Given the description of an element on the screen output the (x, y) to click on. 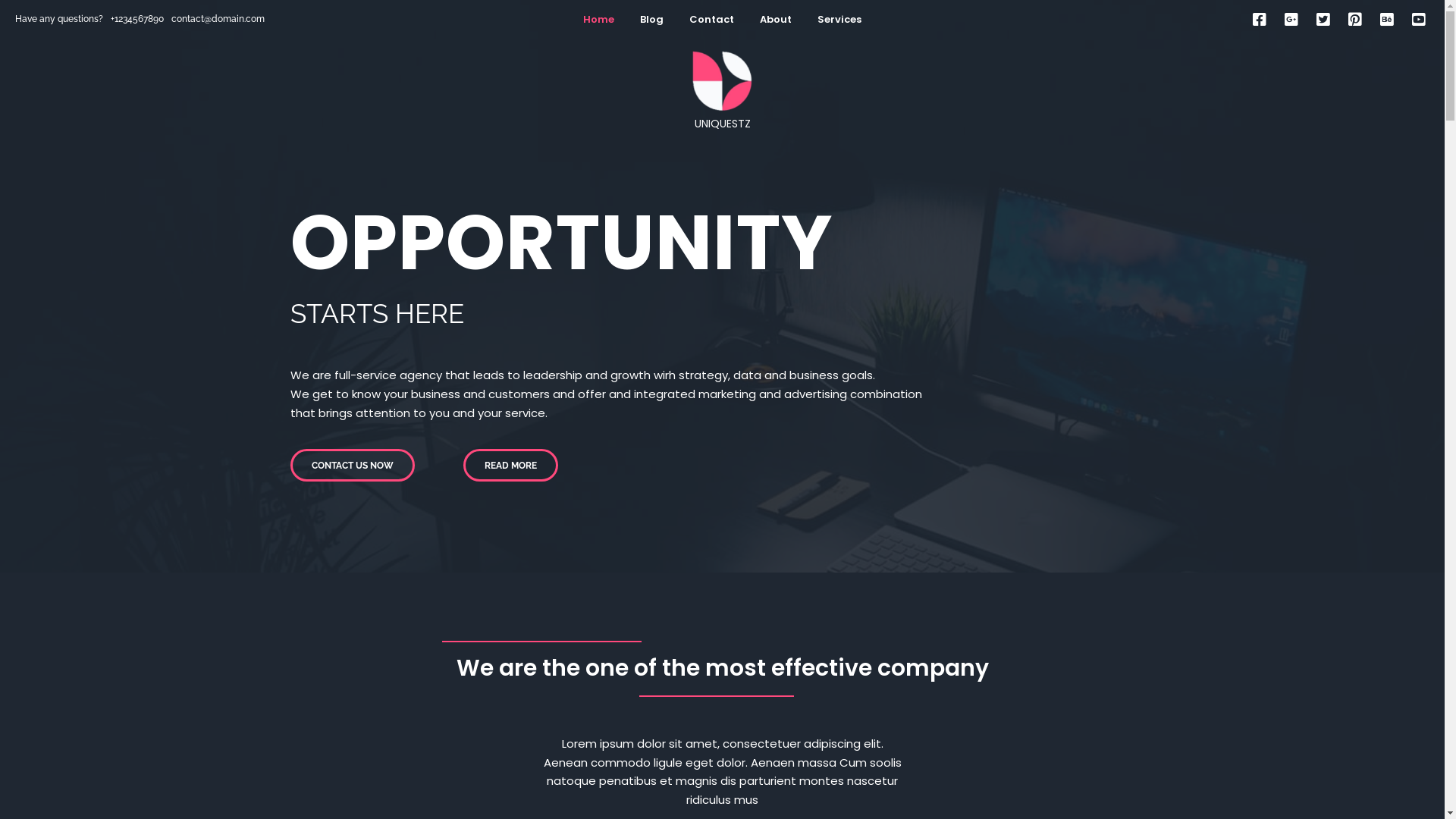
About Element type: text (775, 19)
Contact Element type: text (711, 19)
UNIQUESTZ Element type: text (721, 91)
Services Element type: text (839, 19)
Home Element type: text (598, 19)
logo Element type: hover (722, 80)
Blog Element type: text (651, 19)
READ MORE Element type: text (509, 464)
CONTACT US NOW Element type: text (351, 464)
